Given the description of an element on the screen output the (x, y) to click on. 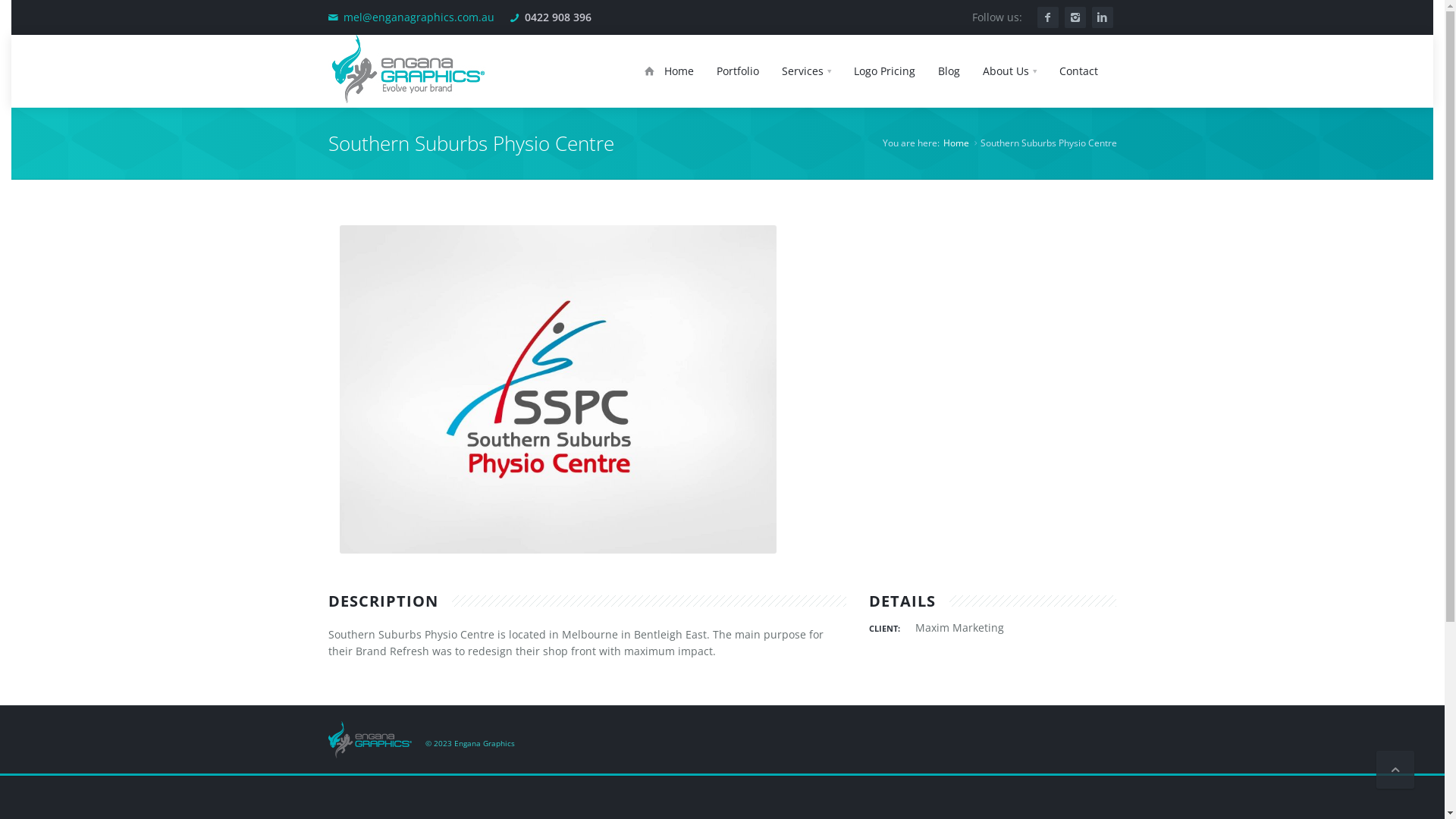
About Us Element type: text (1008, 70)
Home Element type: text (956, 142)
Contact Element type: text (1078, 70)
Portfolio Element type: text (737, 70)
mel@enganagraphics.com.au Element type: text (417, 17)
Home Element type: text (668, 70)
Logo Pricing Element type: text (883, 70)
Blog Element type: text (948, 70)
Engana Graphics. Evolve Your Brand. Element type: hover (369, 739)
Services Element type: text (806, 70)
